Given the description of an element on the screen output the (x, y) to click on. 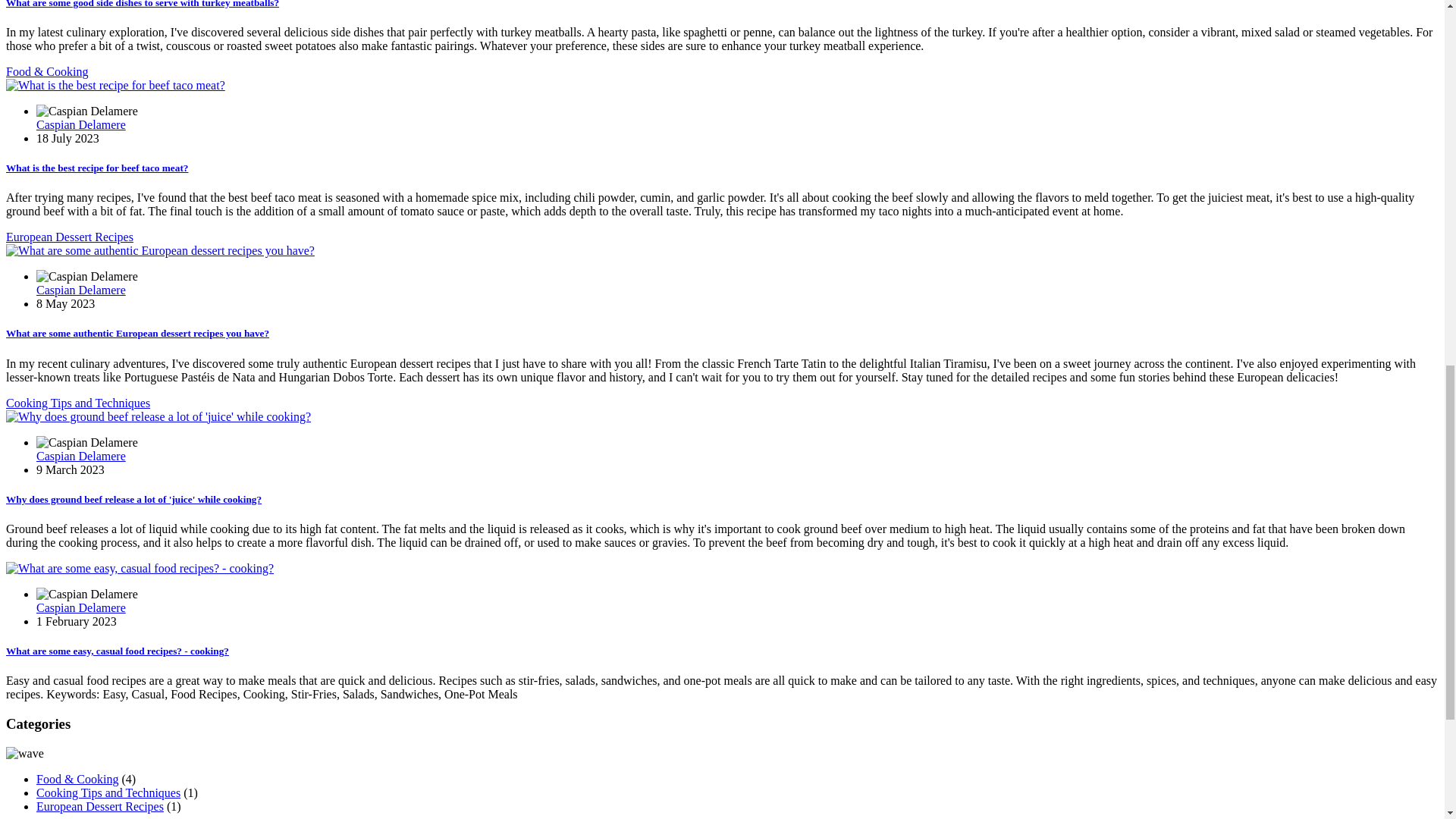
Caspian Delamere (80, 607)
Caspian Delamere (80, 289)
What is the best recipe for beef taco meat? (96, 167)
European Dessert Recipes (69, 236)
Caspian Delamere (80, 455)
What are some authentic European dessert recipes you have? (137, 333)
Why does ground beef release a lot of 'juice' while cooking? (133, 499)
Caspian Delamere (80, 124)
European Dessert Recipes (99, 806)
Cooking Tips and Techniques (108, 792)
What are some easy, casual food recipes? - cooking? (116, 650)
Cooking Tips and Techniques (77, 402)
